Given the description of an element on the screen output the (x, y) to click on. 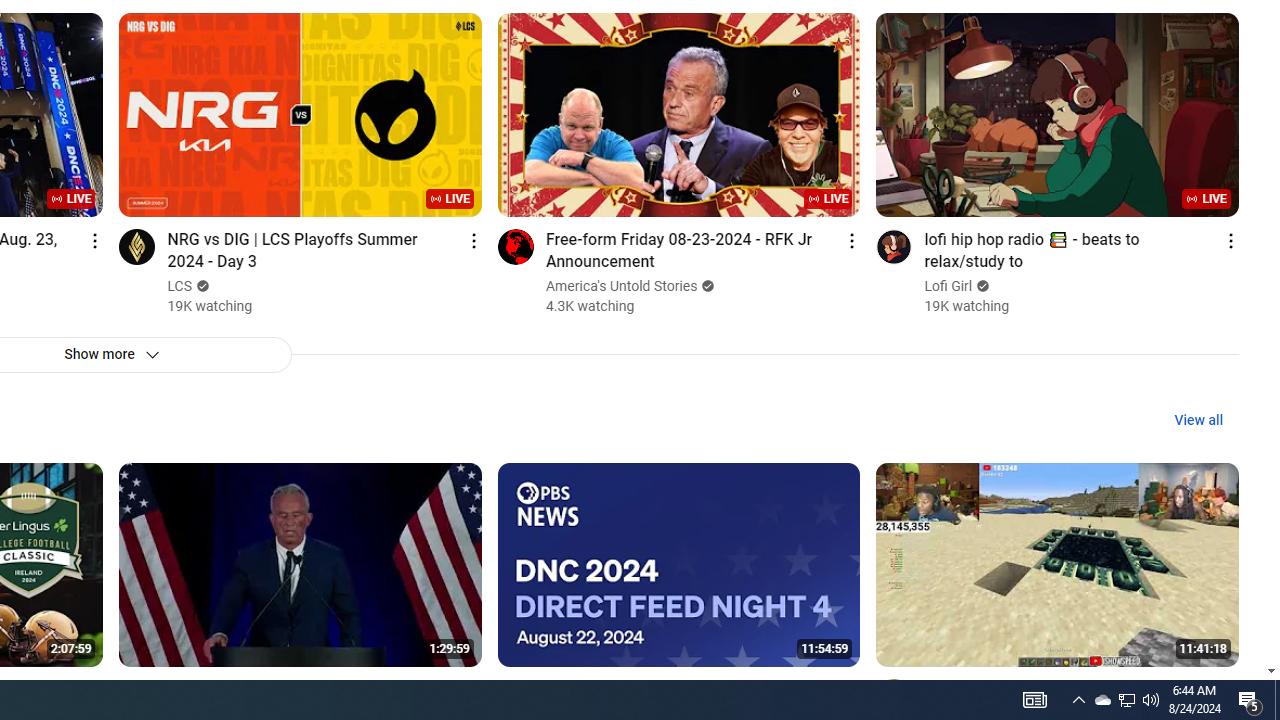
Lofi Girl (949, 285)
Go to channel (893, 696)
America's Untold Stories (621, 285)
Action menu (1229, 690)
LCS (180, 285)
View all (1198, 420)
Verified (980, 286)
